Given the description of an element on the screen output the (x, y) to click on. 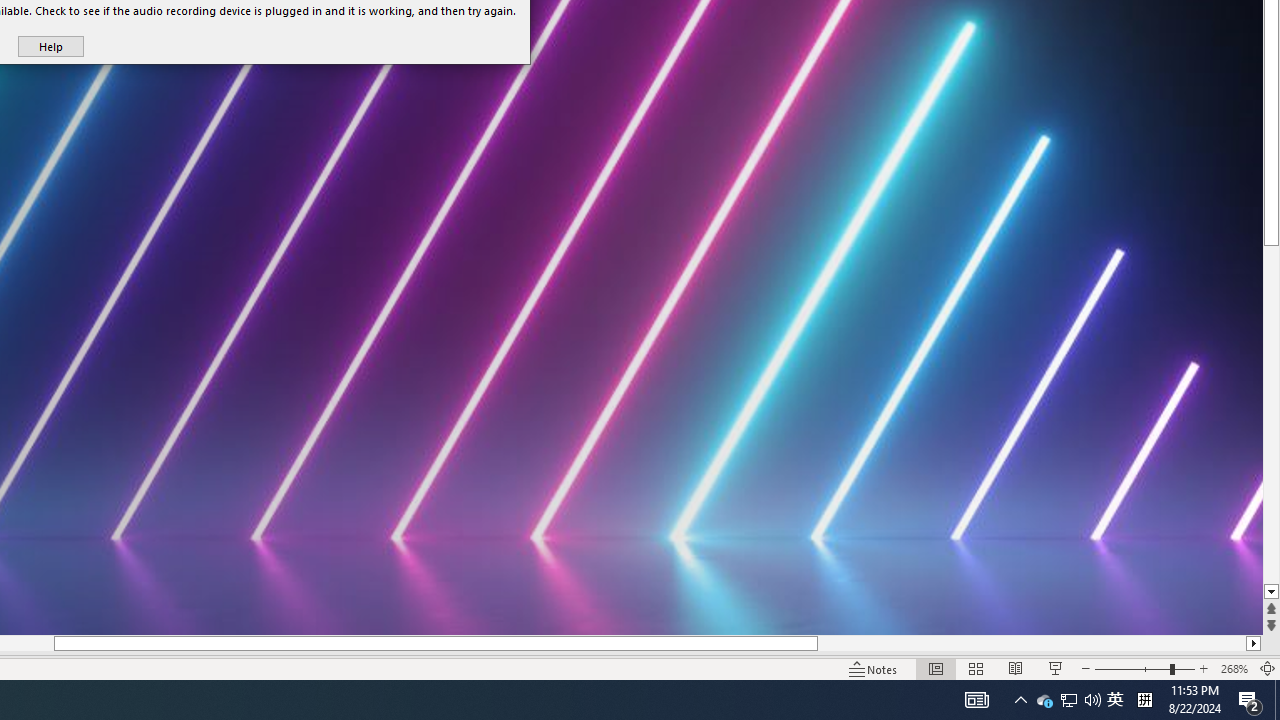
Zoom 268% (1234, 668)
